Given the description of an element on the screen output the (x, y) to click on. 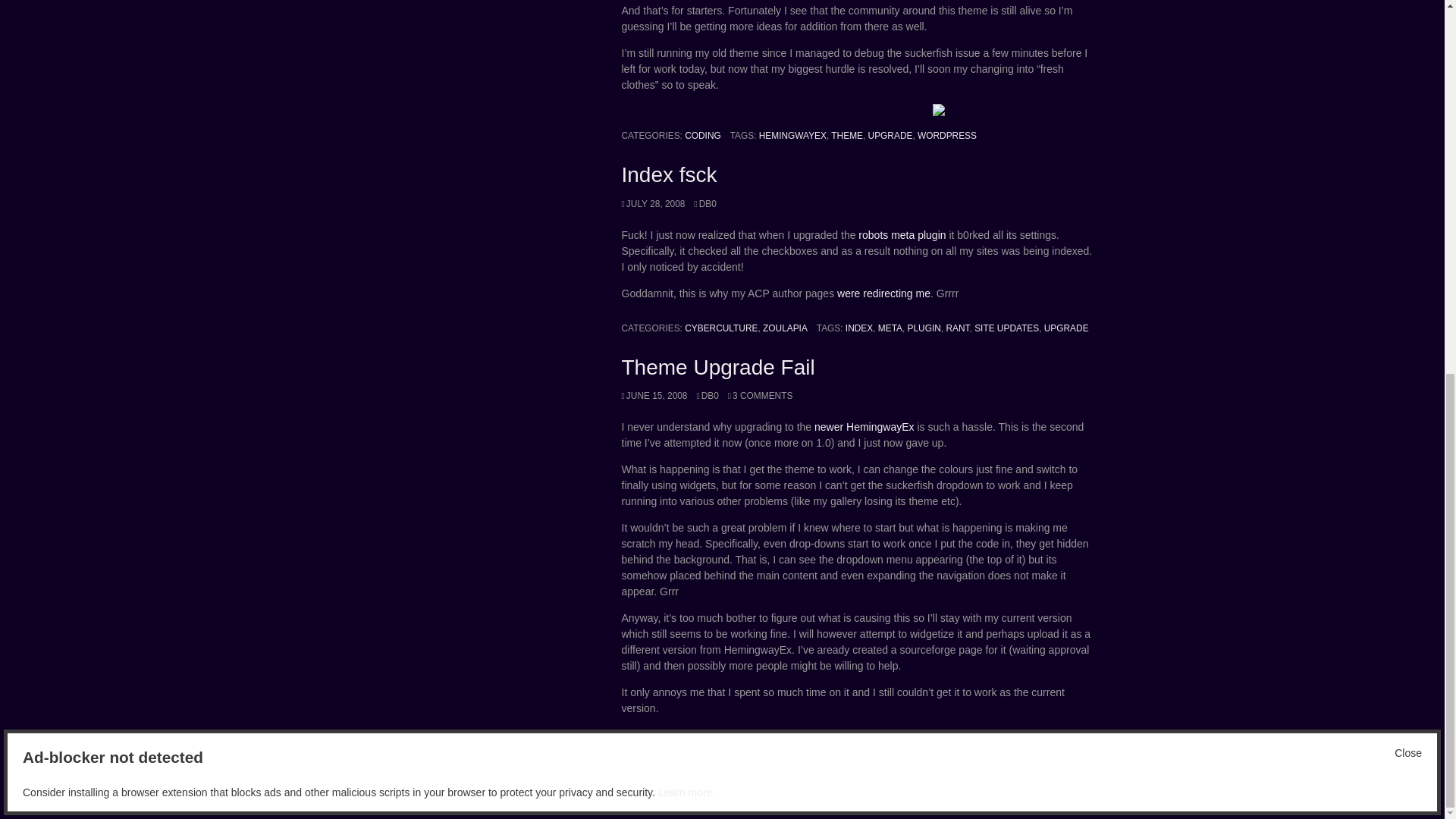
HEMINGWAYEX (792, 135)
CYBERCULTURE (720, 327)
JULY 28, 2008 (653, 204)
UPGRADE (889, 135)
ZOULAPIA (785, 327)
were redirecting me (883, 293)
Index fsck (669, 174)
THEME (847, 135)
WORDPRESS (946, 135)
DB0 (705, 204)
INDEX (858, 327)
CODING (702, 135)
robots meta plugin (901, 234)
